Given the description of an element on the screen output the (x, y) to click on. 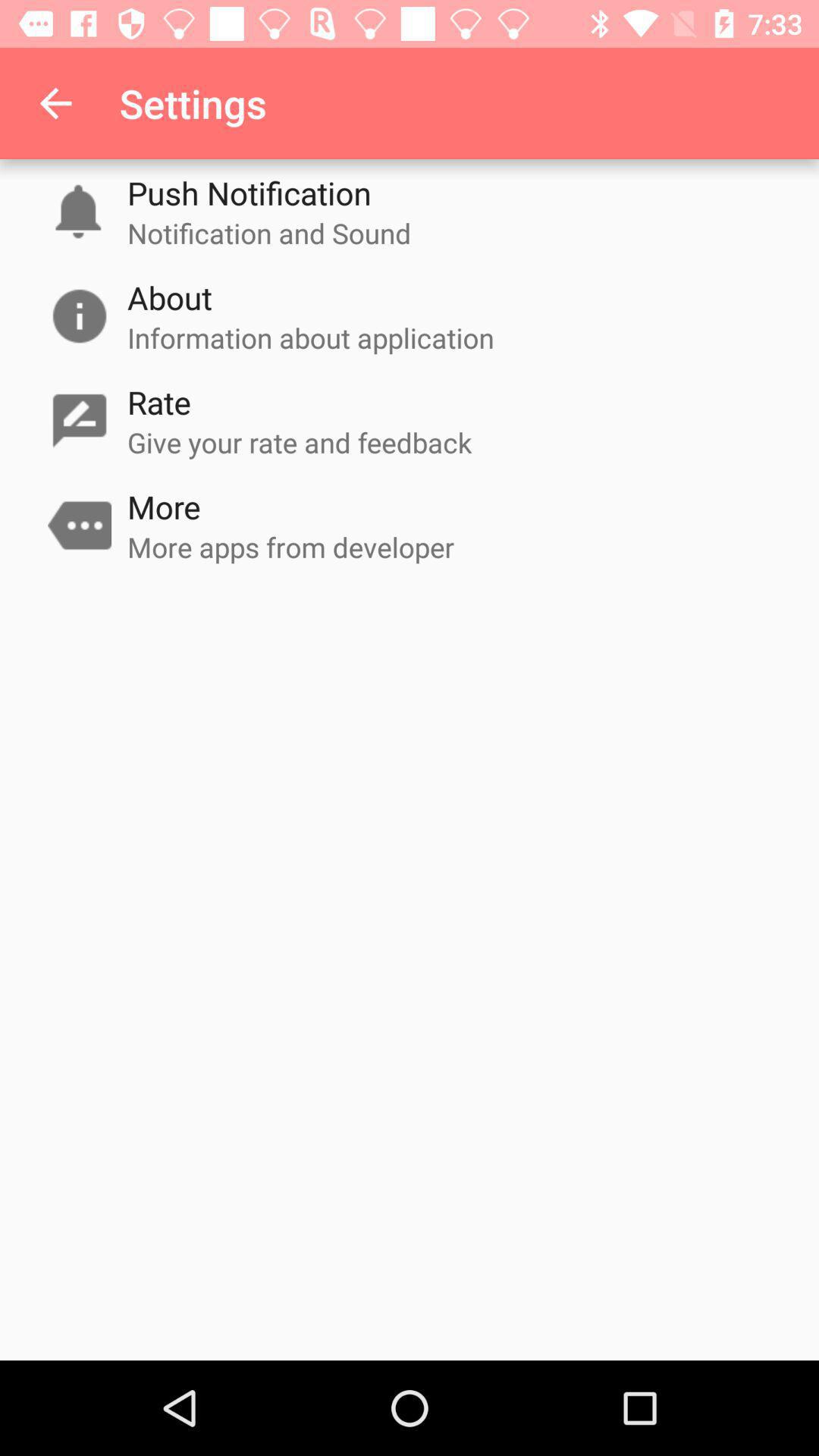
flip until notification and sound (269, 232)
